Given the description of an element on the screen output the (x, y) to click on. 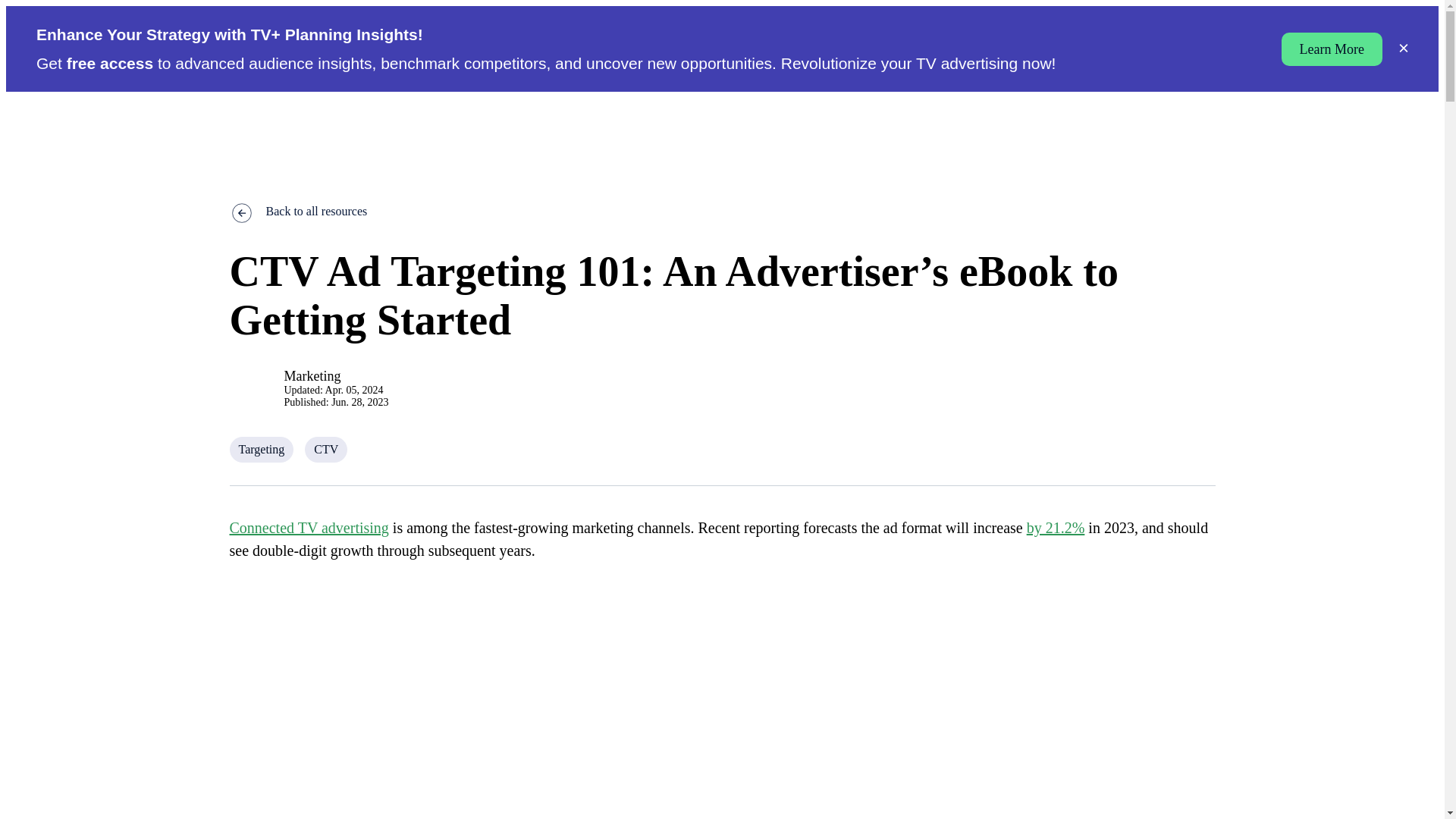
Learn More (1331, 49)
Connected TV advertising (308, 527)
CTV (325, 449)
Targeting (261, 449)
Back to all resources (721, 211)
